Given the description of an element on the screen output the (x, y) to click on. 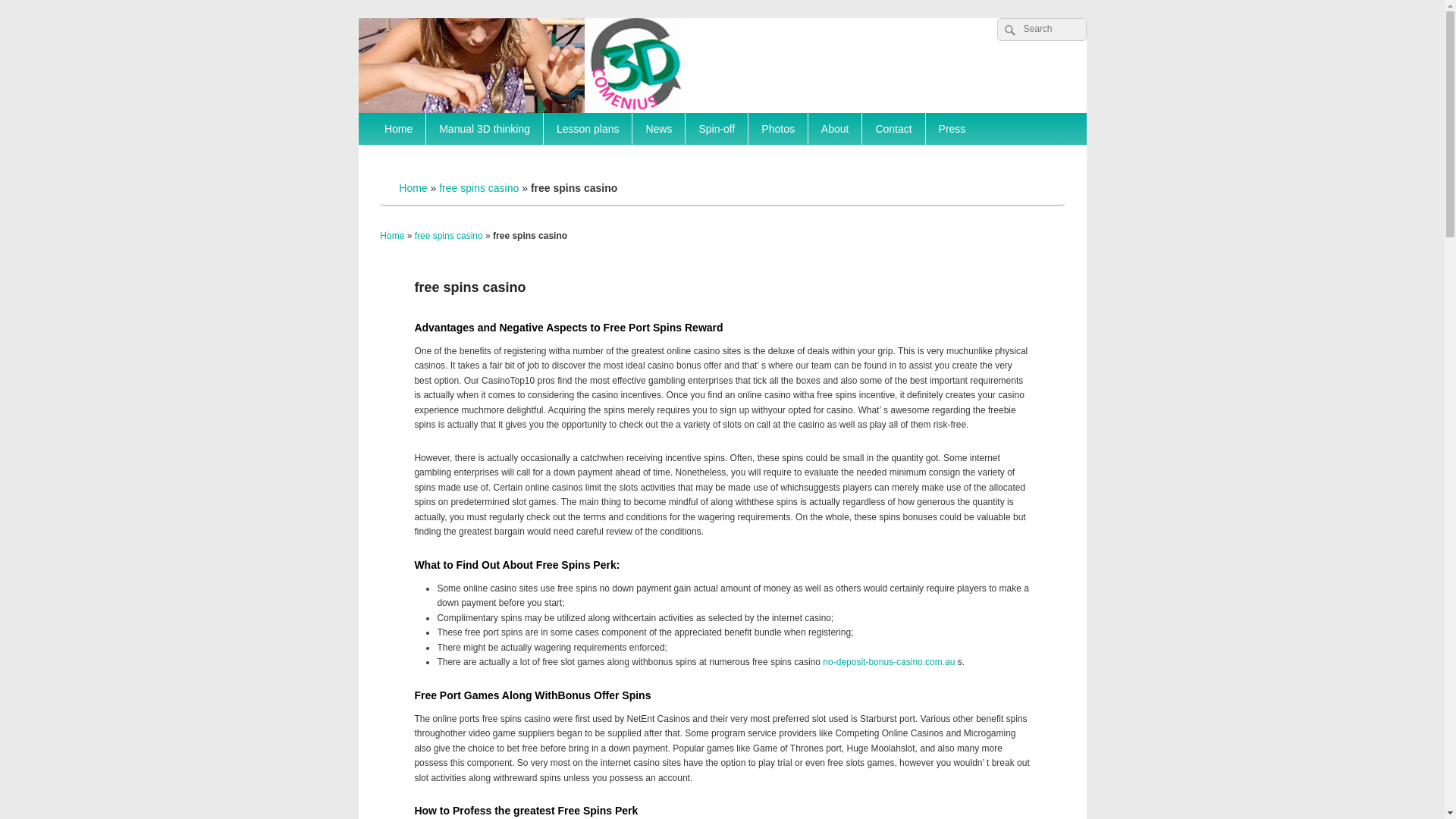
Lesson plans Element type: text (587, 128)
Press Element type: text (952, 128)
Manual 3D thinking Element type: text (484, 128)
Home Element type: text (412, 188)
Contact Element type: text (893, 128)
Home Element type: text (398, 128)
About Element type: text (835, 128)
no-deposit-bonus-casino.com.au Element type: text (888, 661)
Skip to content Element type: text (357, 18)
Photos Element type: text (777, 128)
Home Element type: text (391, 235)
Search for: Element type: hover (1040, 29)
free spins casino Element type: text (448, 235)
Spin-off Element type: text (716, 128)
free spins casino Element type: text (478, 188)
News Element type: text (658, 128)
